Given the description of an element on the screen output the (x, y) to click on. 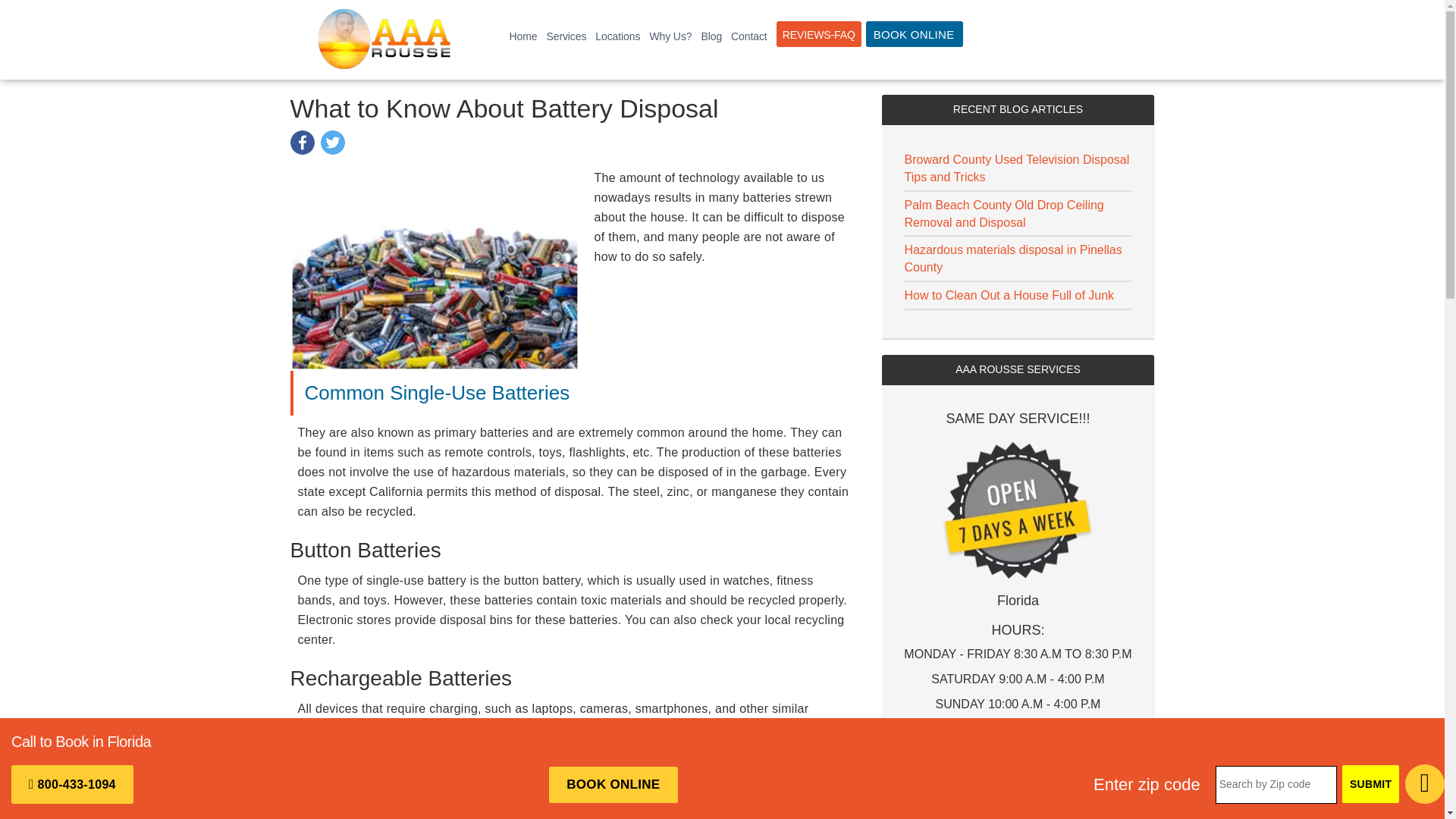
Contact (748, 36)
Hazardous materials disposal in Pinellas County (1012, 258)
Florida's Best Junk Removal (383, 39)
SUBMIT (1370, 783)
Home (523, 36)
Services (566, 36)
BOOK ONLINE (914, 33)
Palm Beach County Old Drop Ceiling Removal and Disposal (1003, 214)
How to Clean Out a House Full of Junk (1008, 295)
Locations (618, 36)
REVIEWS-FAQ (818, 33)
Broward County Used Television Disposal Tips and Tricks (1016, 168)
Why Us? (670, 36)
Blog (710, 36)
